Given the description of an element on the screen output the (x, y) to click on. 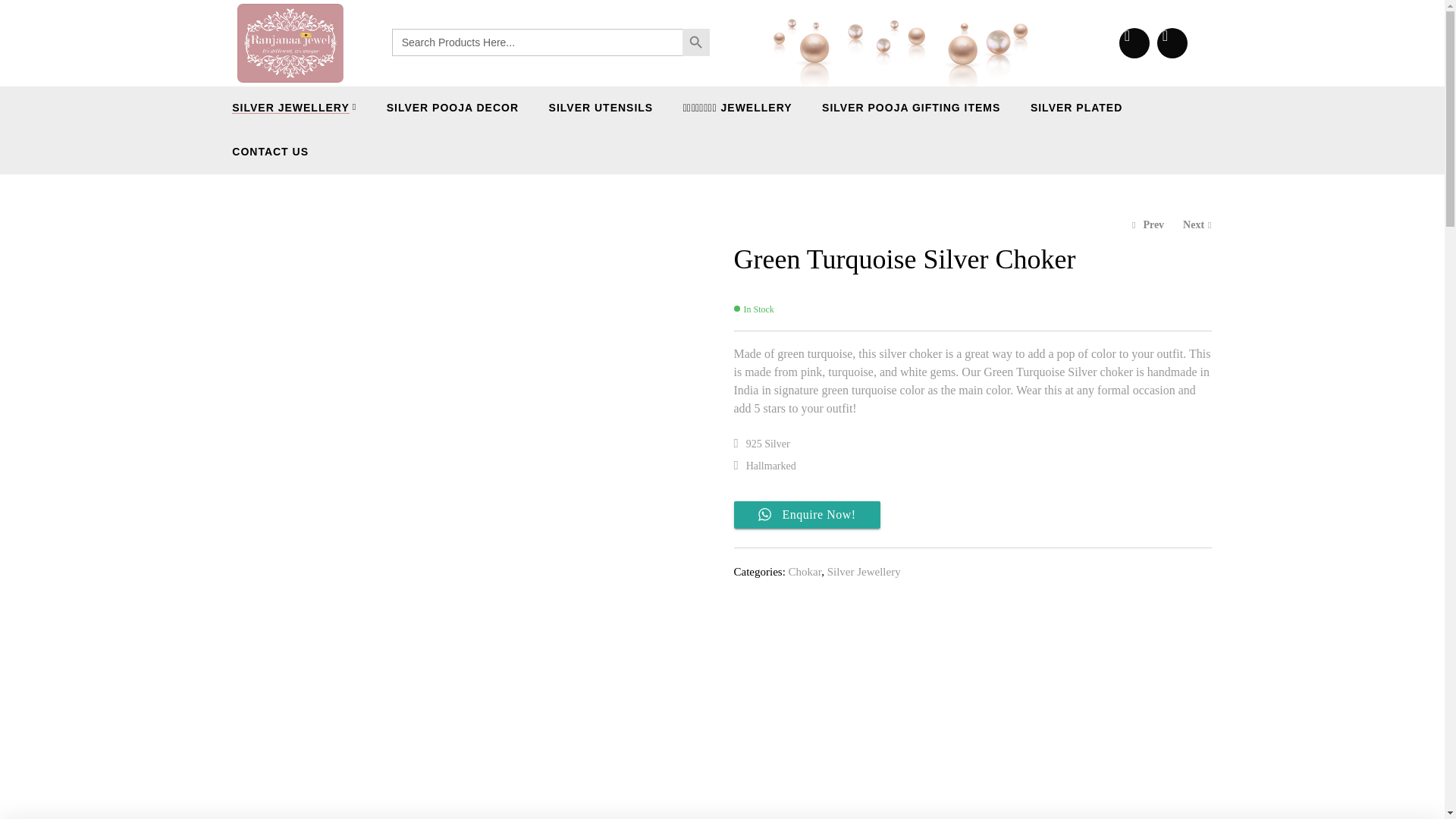
Next (1196, 225)
SILVER JEWELLERY (293, 108)
Prev (1147, 225)
CONTACT US (269, 152)
Search Button (696, 42)
Chokar (805, 571)
SILVER POOJA GIFTING ITEMS (911, 108)
SILVER POOJA DECOR (452, 108)
SILVER UTENSILS (600, 108)
Silver Jewellery (864, 571)
